Given the description of an element on the screen output the (x, y) to click on. 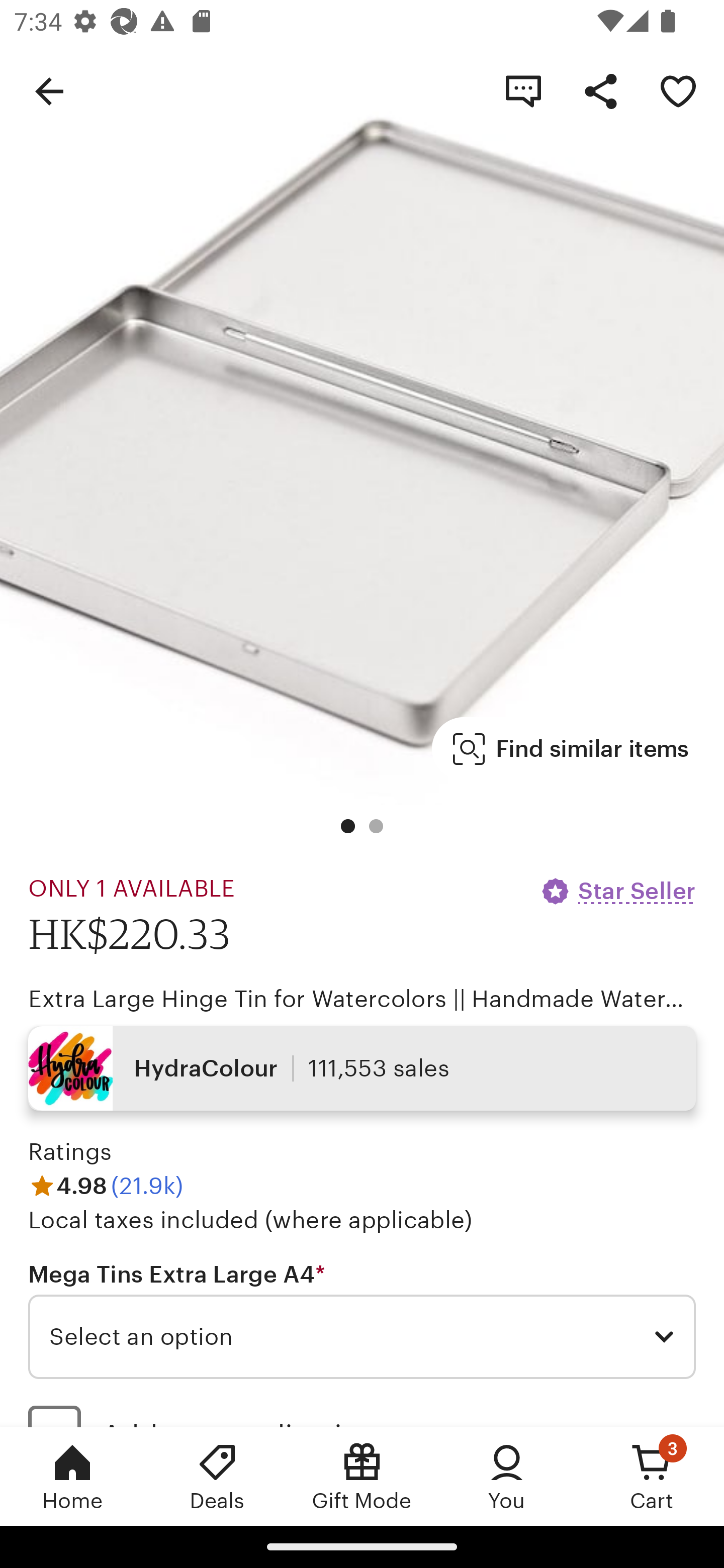
Navigate up (49, 90)
Contact shop (523, 90)
Share (600, 90)
Find similar items (571, 748)
Star Seller (617, 890)
HydraColour 111,553 sales (361, 1067)
Ratings (70, 1151)
4.98 (21.9k) (105, 1185)
Select an option (361, 1336)
Deals (216, 1475)
Gift Mode (361, 1475)
You (506, 1475)
Cart, 3 new notifications Cart (651, 1475)
